Given the description of an element on the screen output the (x, y) to click on. 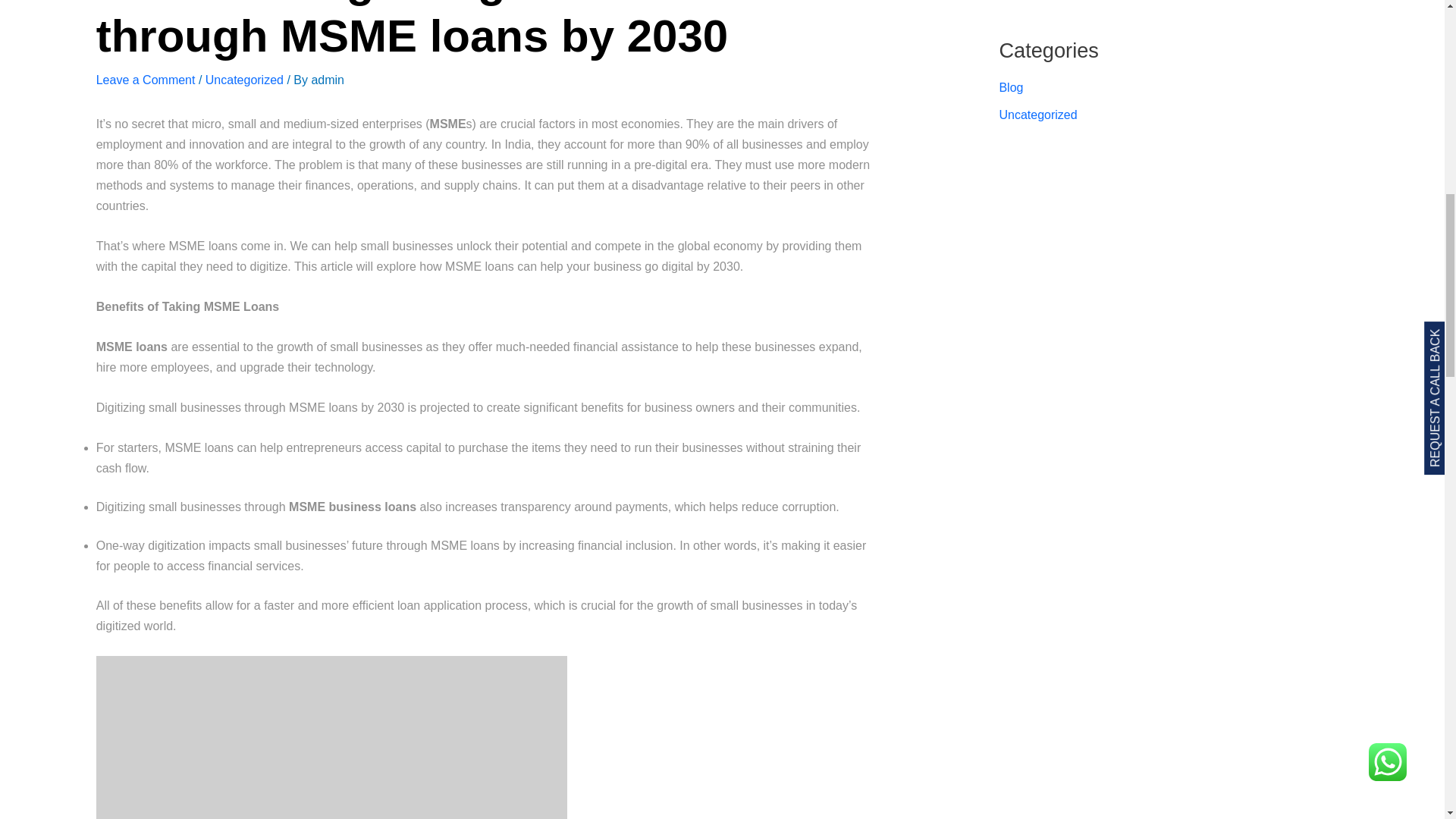
Uncategorized (244, 79)
admin (327, 79)
Leave a Comment (145, 79)
View all posts by admin (327, 79)
